Given the description of an element on the screen output the (x, y) to click on. 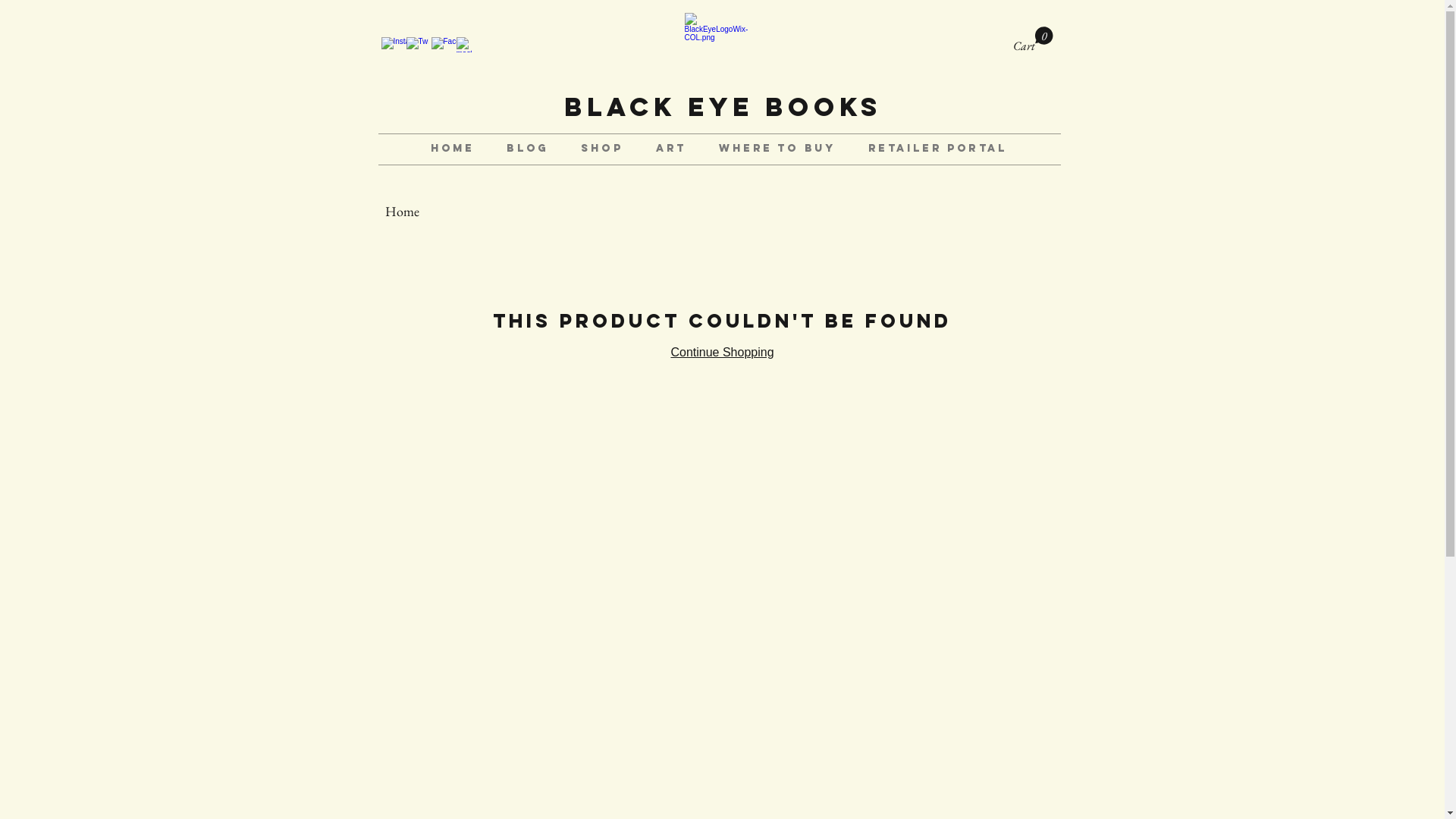
0
Cart Element type: text (1033, 39)
Home Element type: text (402, 210)
Retailer Portal Element type: text (937, 148)
BLACK EYE BOOKS Element type: text (722, 106)
Where to Buy Element type: text (777, 148)
Home Element type: text (452, 148)
Continue Shopping Element type: text (721, 351)
Art Element type: text (670, 148)
Shop Element type: text (602, 148)
Blog Element type: text (527, 148)
